Given the description of an element on the screen output the (x, y) to click on. 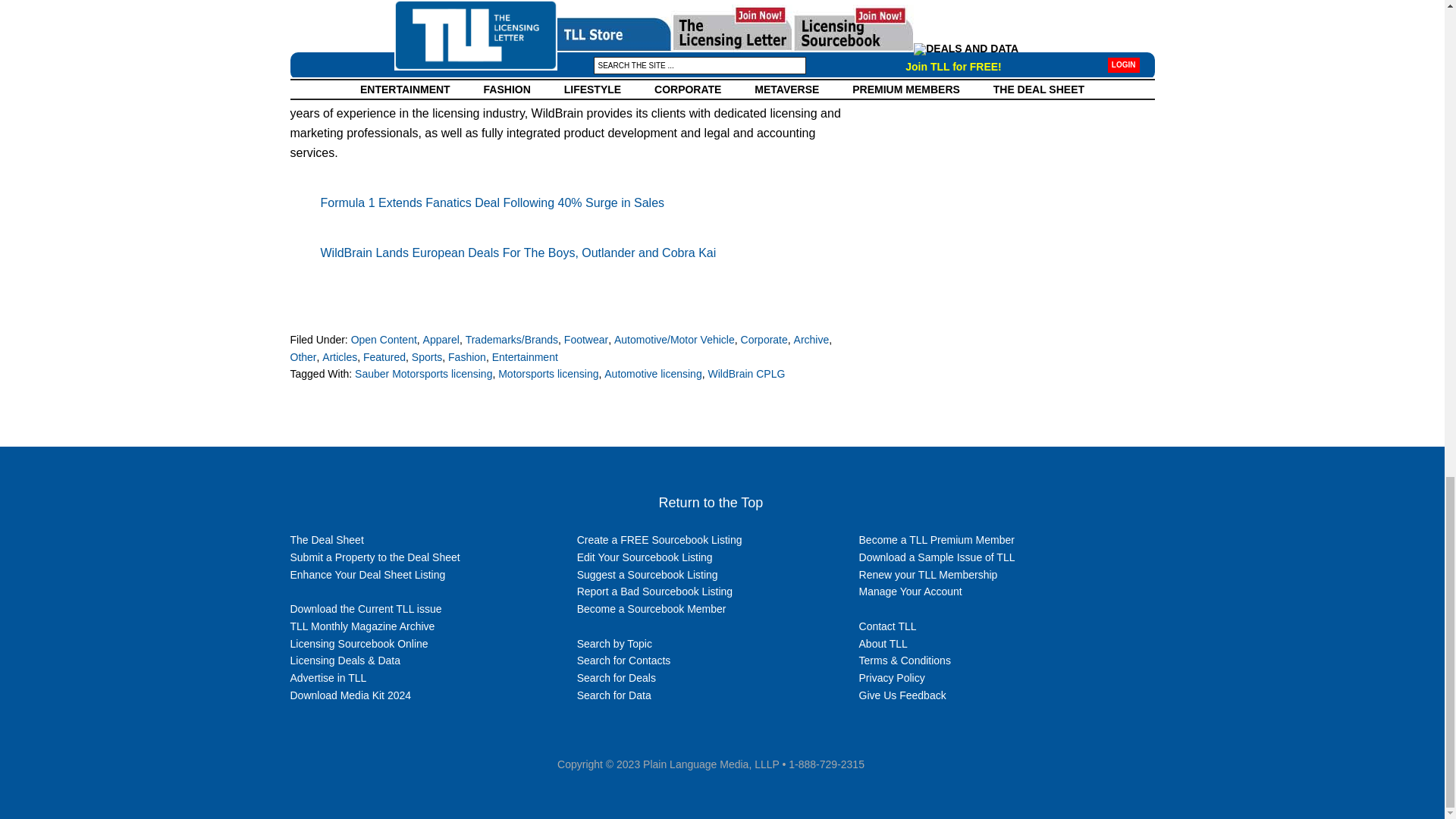
Motorsports licensing (547, 373)
Other (302, 356)
Entertainment (524, 356)
Apparel (441, 339)
Archive (811, 339)
Open Content (383, 339)
Footwear (586, 339)
Articles (338, 356)
Automotive licensing (652, 373)
Sports (427, 356)
Featured (384, 356)
Sauber Motorsports licensing (423, 373)
Fashion (467, 356)
Corporate (764, 339)
